Given the description of an element on the screen output the (x, y) to click on. 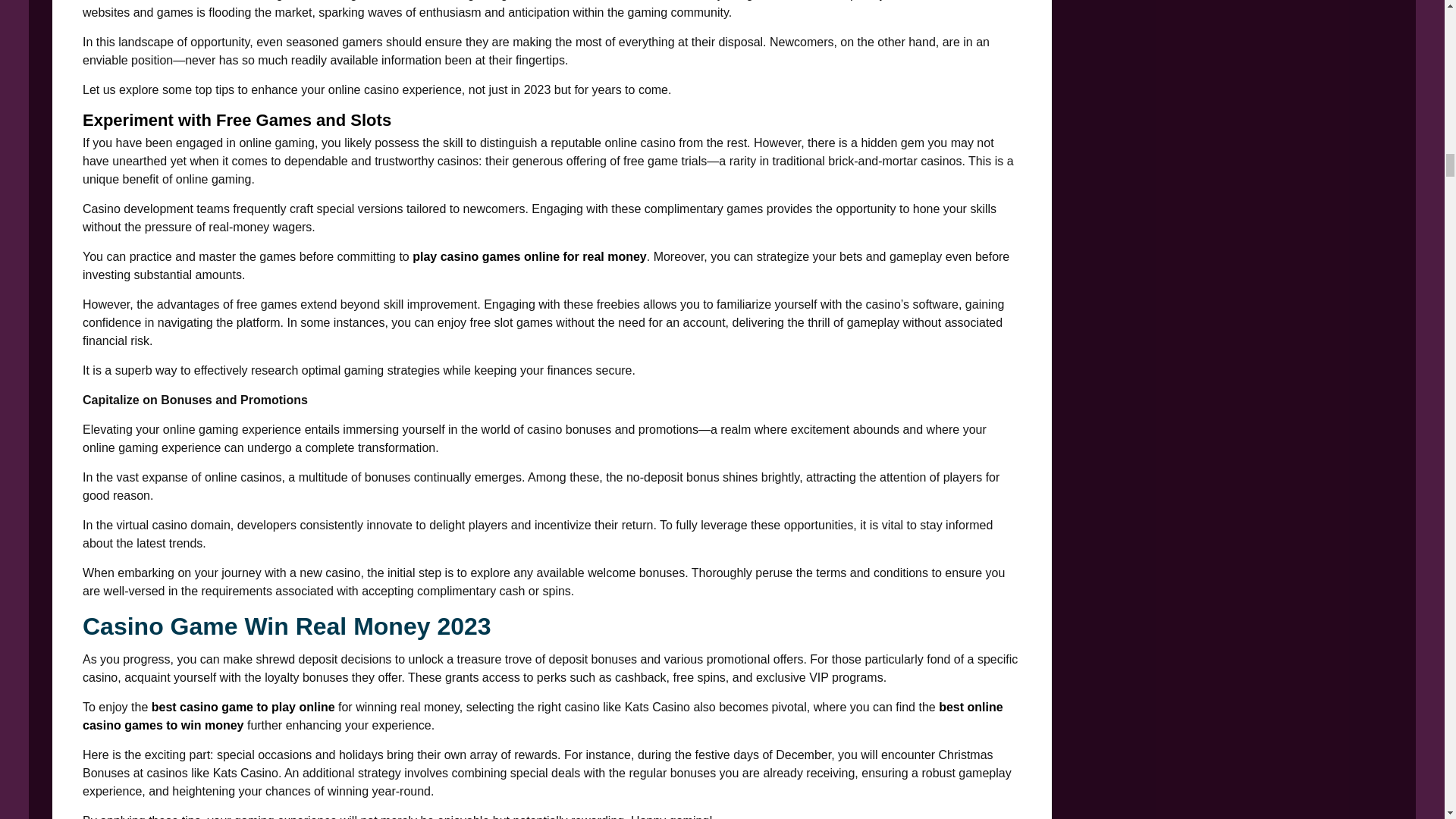
best online casino games to win money (542, 716)
best casino game to play online (242, 707)
play casino games online for real money (529, 256)
